Given the description of an element on the screen output the (x, y) to click on. 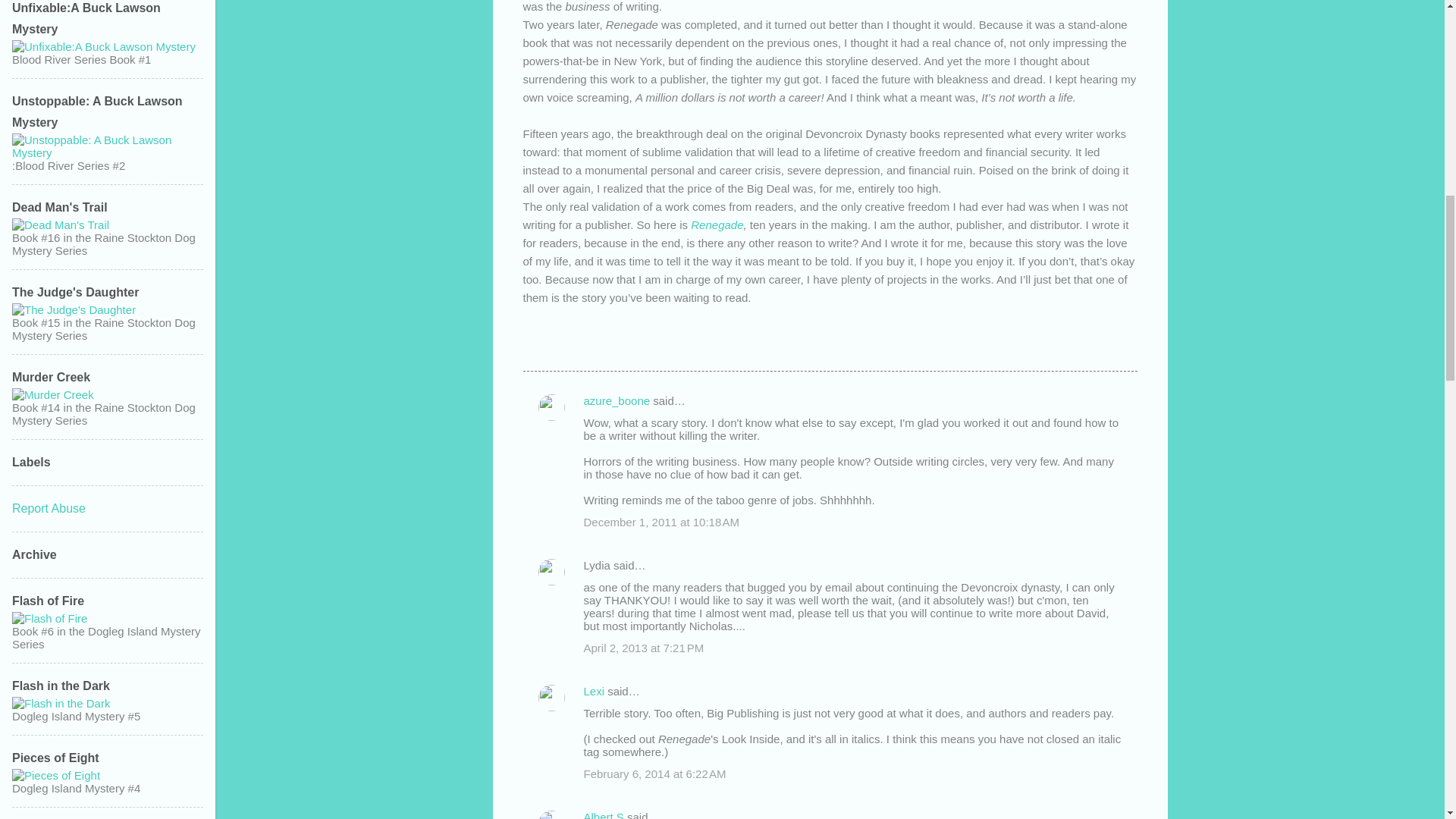
Renegade (716, 224)
Lexi (594, 690)
Albert S (603, 814)
comment permalink (661, 521)
